Given the description of an element on the screen output the (x, y) to click on. 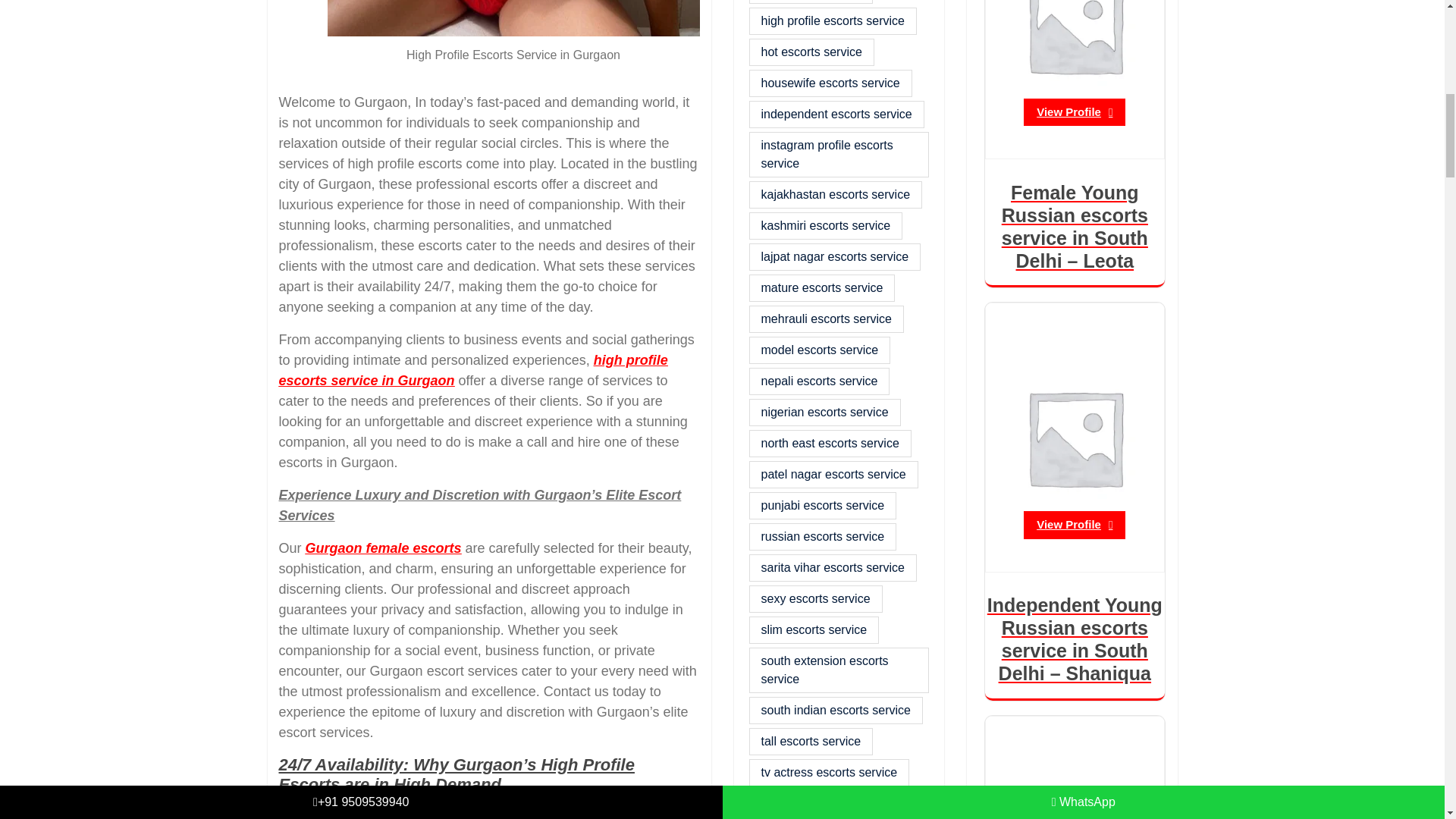
View Profile (1074, 112)
Gurgaon female escorts (383, 548)
View Profile (1074, 524)
high profile escorts service in Gurgaon (473, 370)
